Given the description of an element on the screen output the (x, y) to click on. 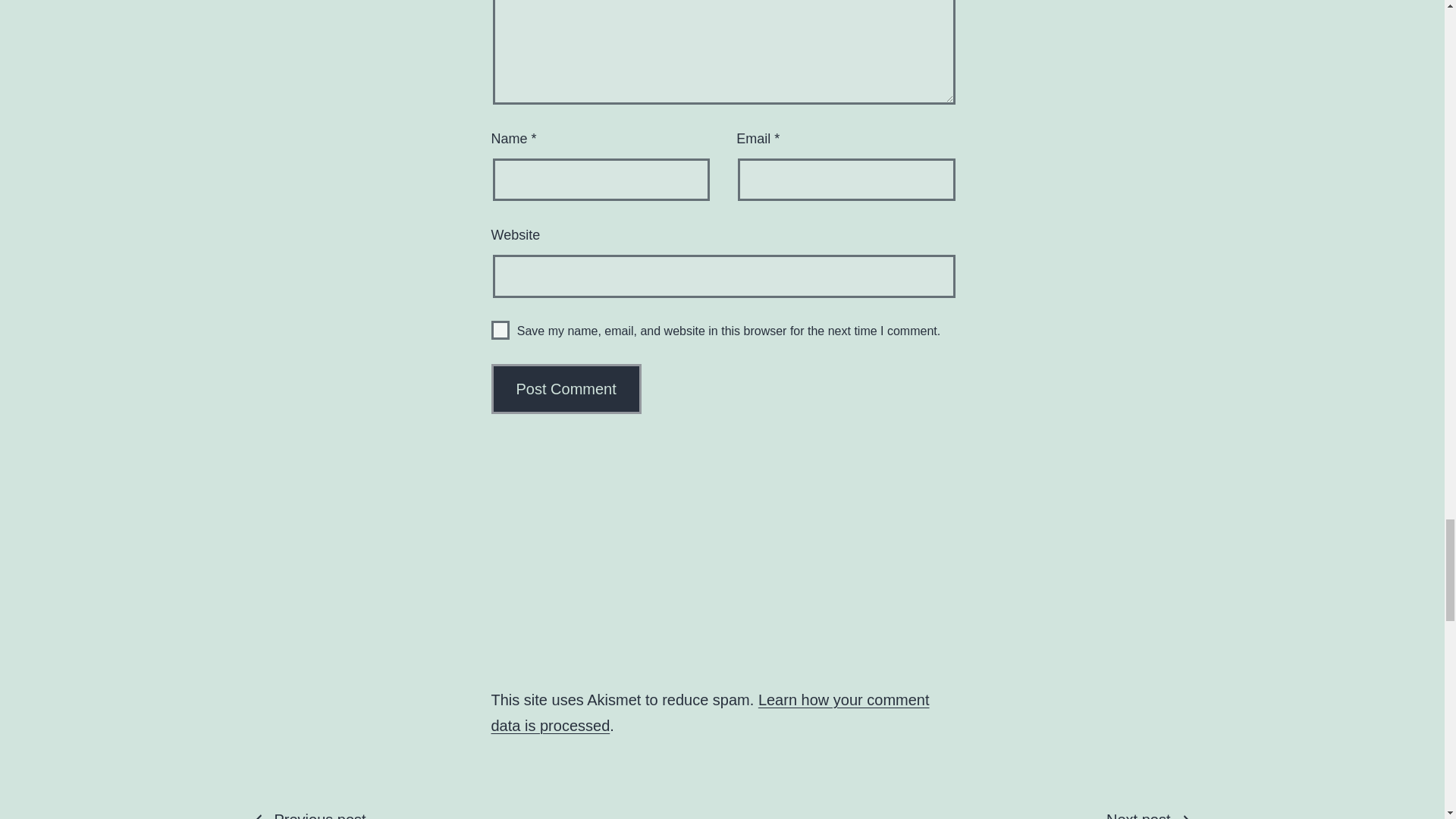
Post Comment (567, 388)
Post Comment (567, 388)
yes (1021, 812)
Learn how your comment data is processed (500, 330)
